Given the description of an element on the screen output the (x, y) to click on. 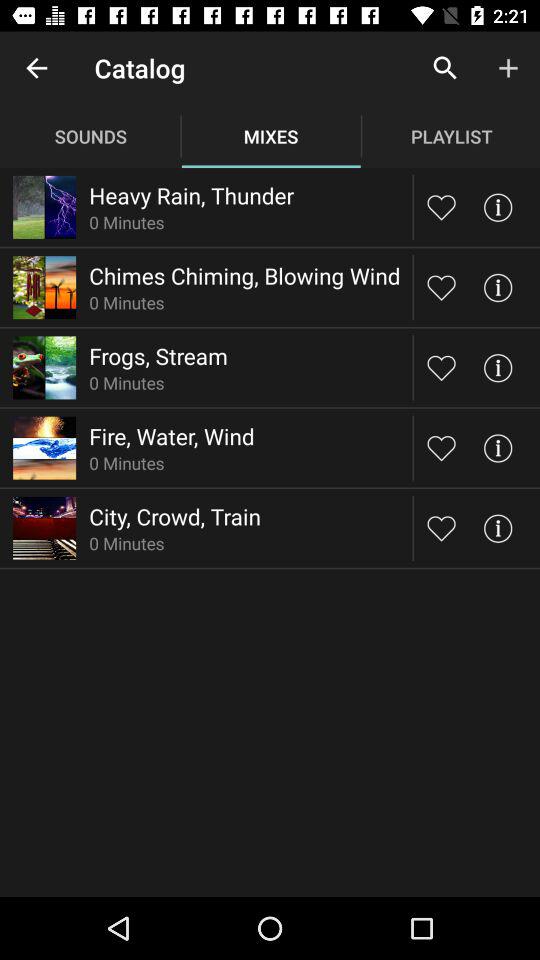
favorite selected element (441, 527)
